Given the description of an element on the screen output the (x, y) to click on. 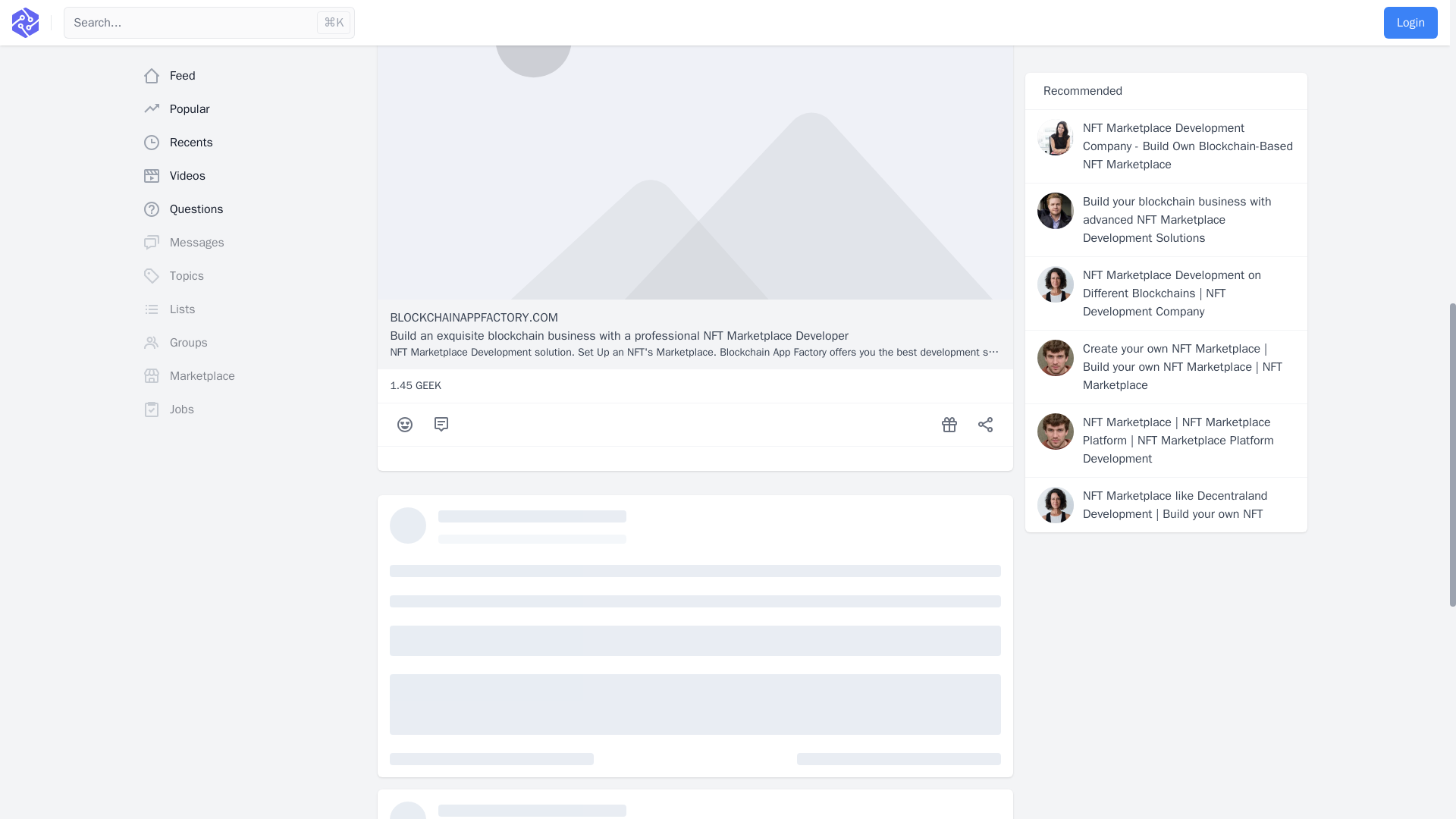
Send me a coffee (948, 424)
Like (405, 424)
Write a comment (441, 424)
Share (986, 424)
